Given the description of an element on the screen output the (x, y) to click on. 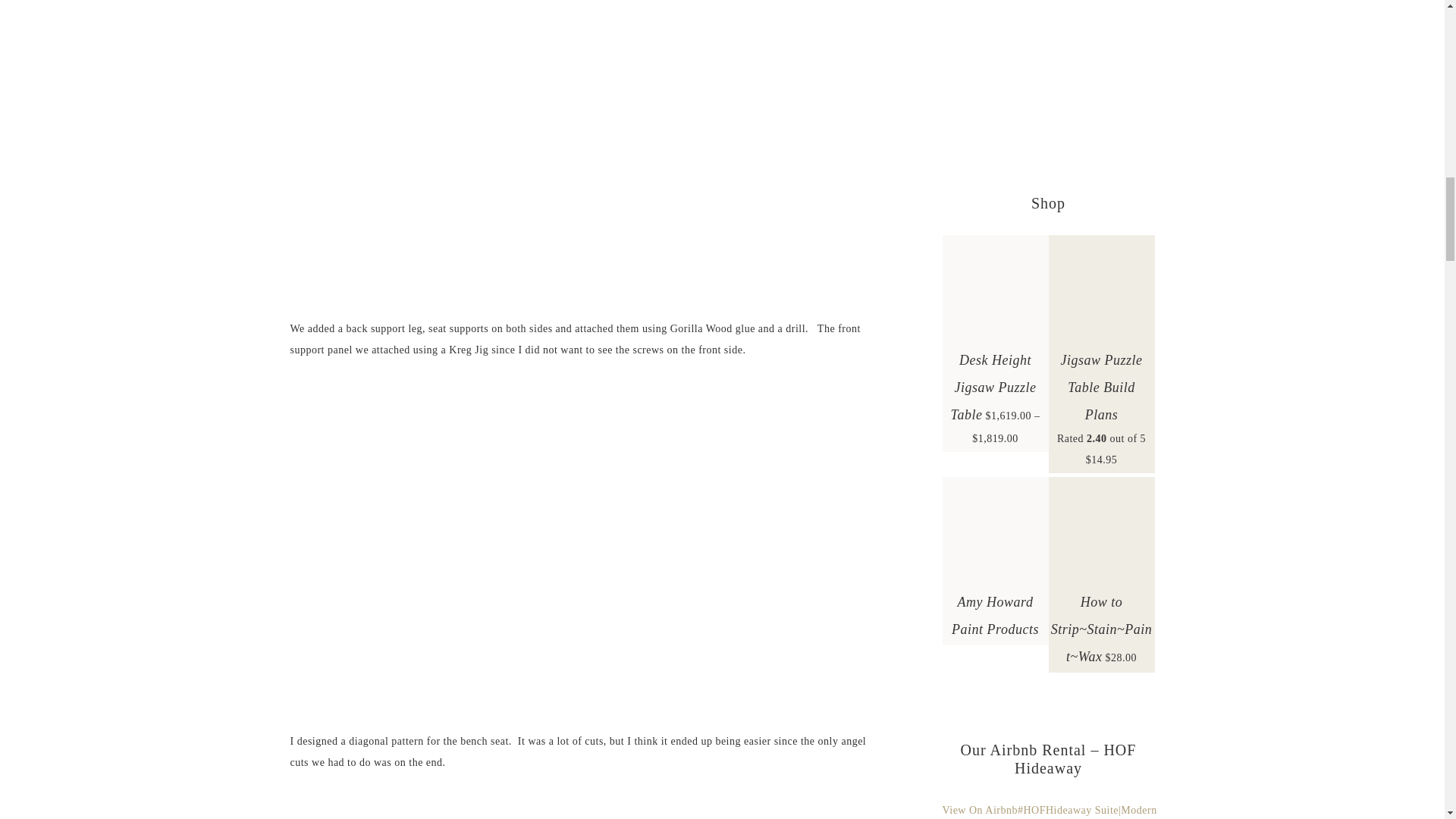
Repurposed-Headborad-Corner-Bench -kreg jig (578, 806)
